Given the description of an element on the screen output the (x, y) to click on. 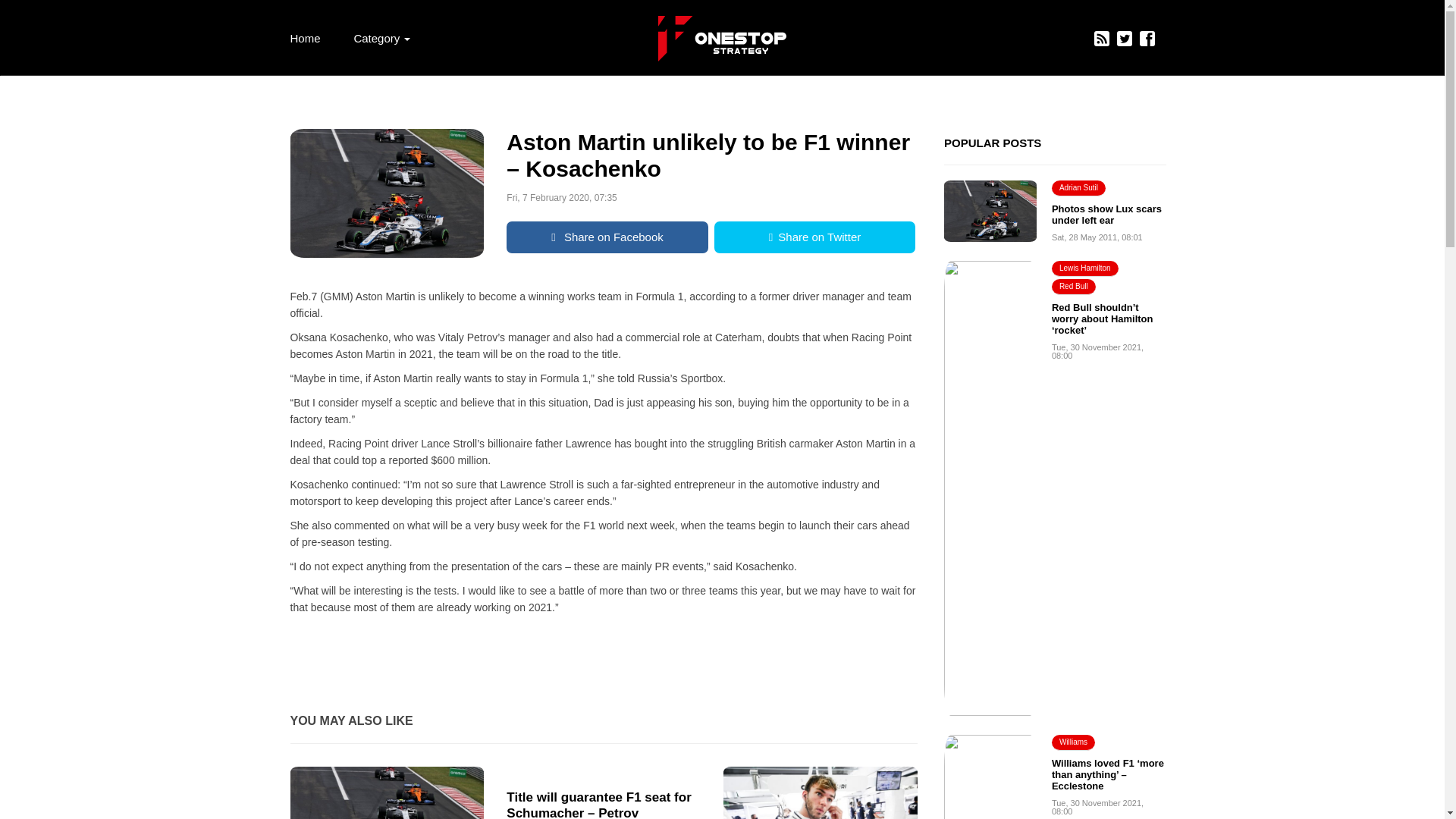
Lewis Hamilton (1084, 268)
Category (381, 38)
Share on Twitter (814, 237)
Adrian Sutil (1078, 188)
Red Bull (1073, 286)
Share on Facebook (606, 237)
Category (381, 38)
Share on Twitter (814, 237)
Williams (1072, 742)
Share on Facebook (606, 237)
